Given the description of an element on the screen output the (x, y) to click on. 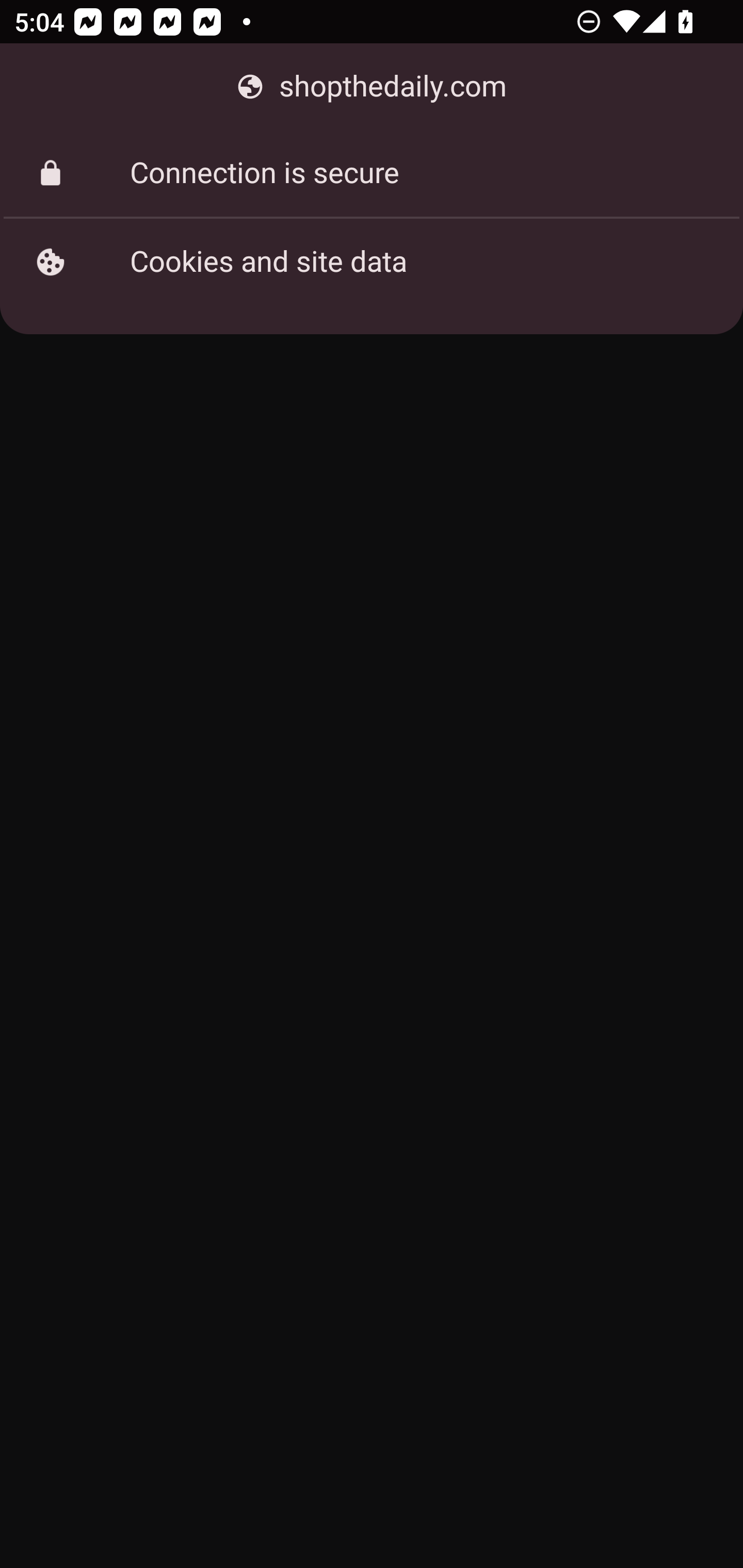
shopthedaily.com (371, 86)
Connection is secure (371, 173)
Cookies and site data (371, 261)
